Given the description of an element on the screen output the (x, y) to click on. 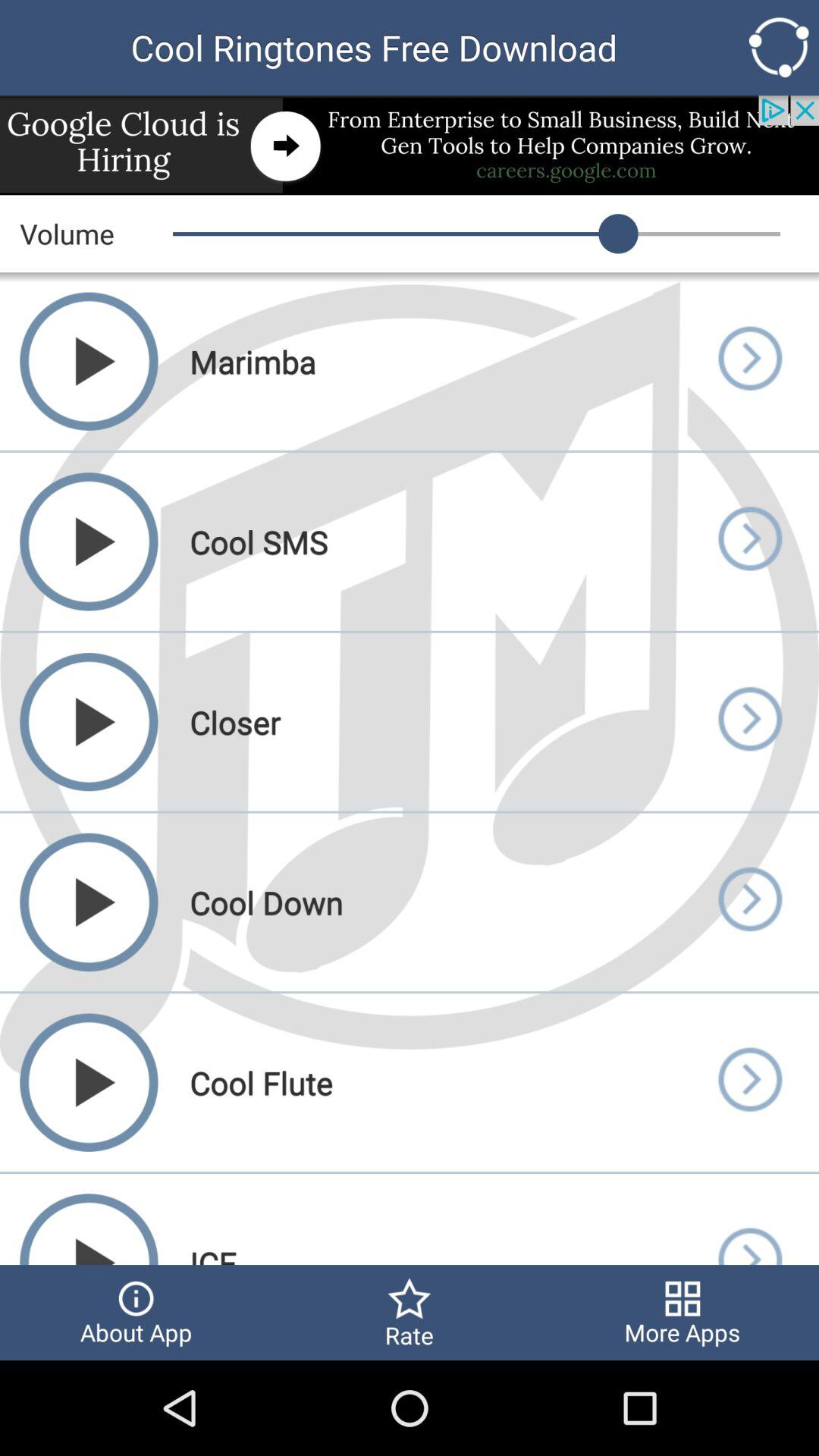
view details option (749, 1082)
